Given the description of an element on the screen output the (x, y) to click on. 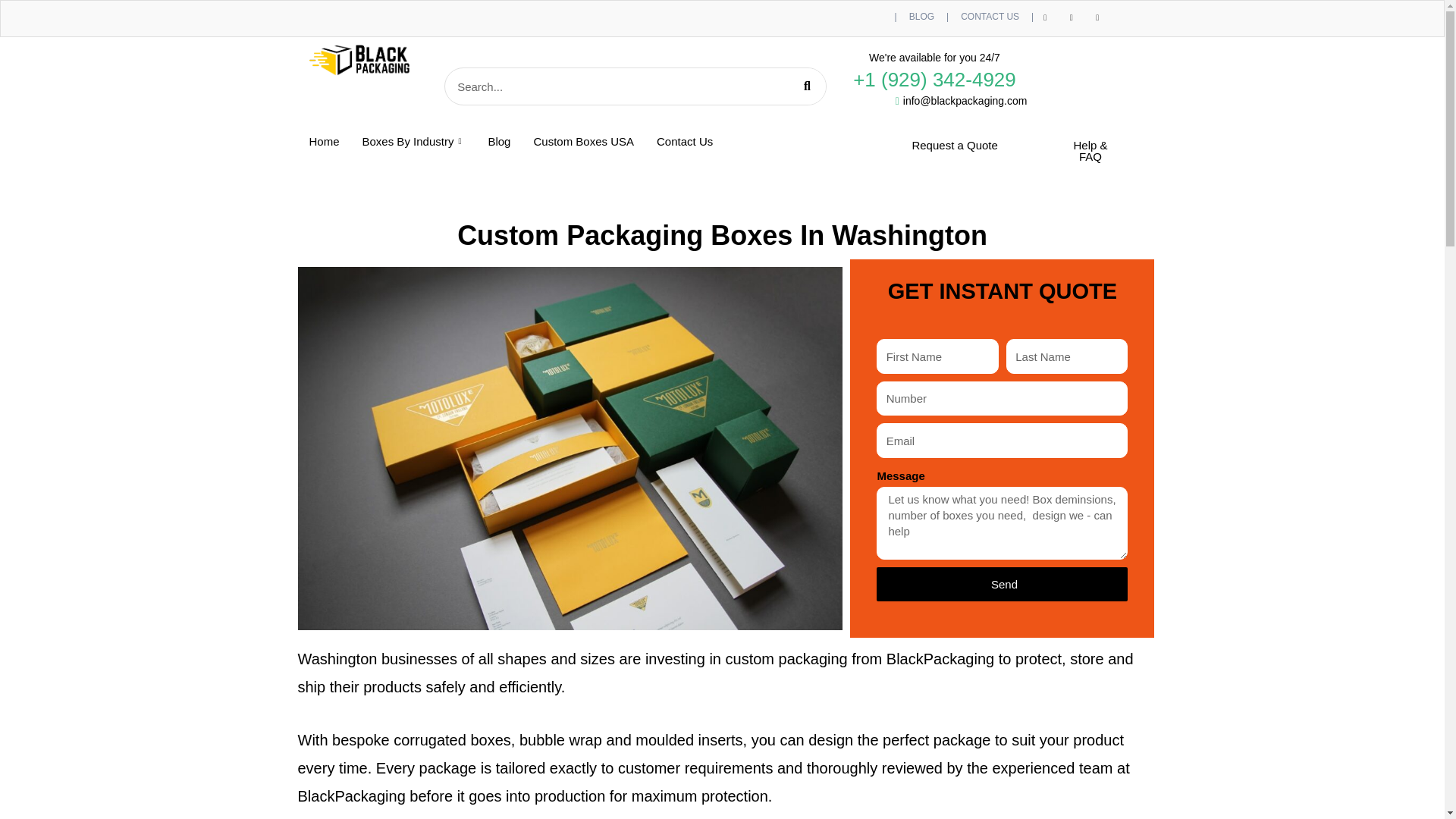
CONTACT US (989, 16)
Home (323, 140)
BLOG (921, 16)
Search (806, 85)
Search (615, 85)
Boxes By Industry (413, 140)
